Given the description of an element on the screen output the (x, y) to click on. 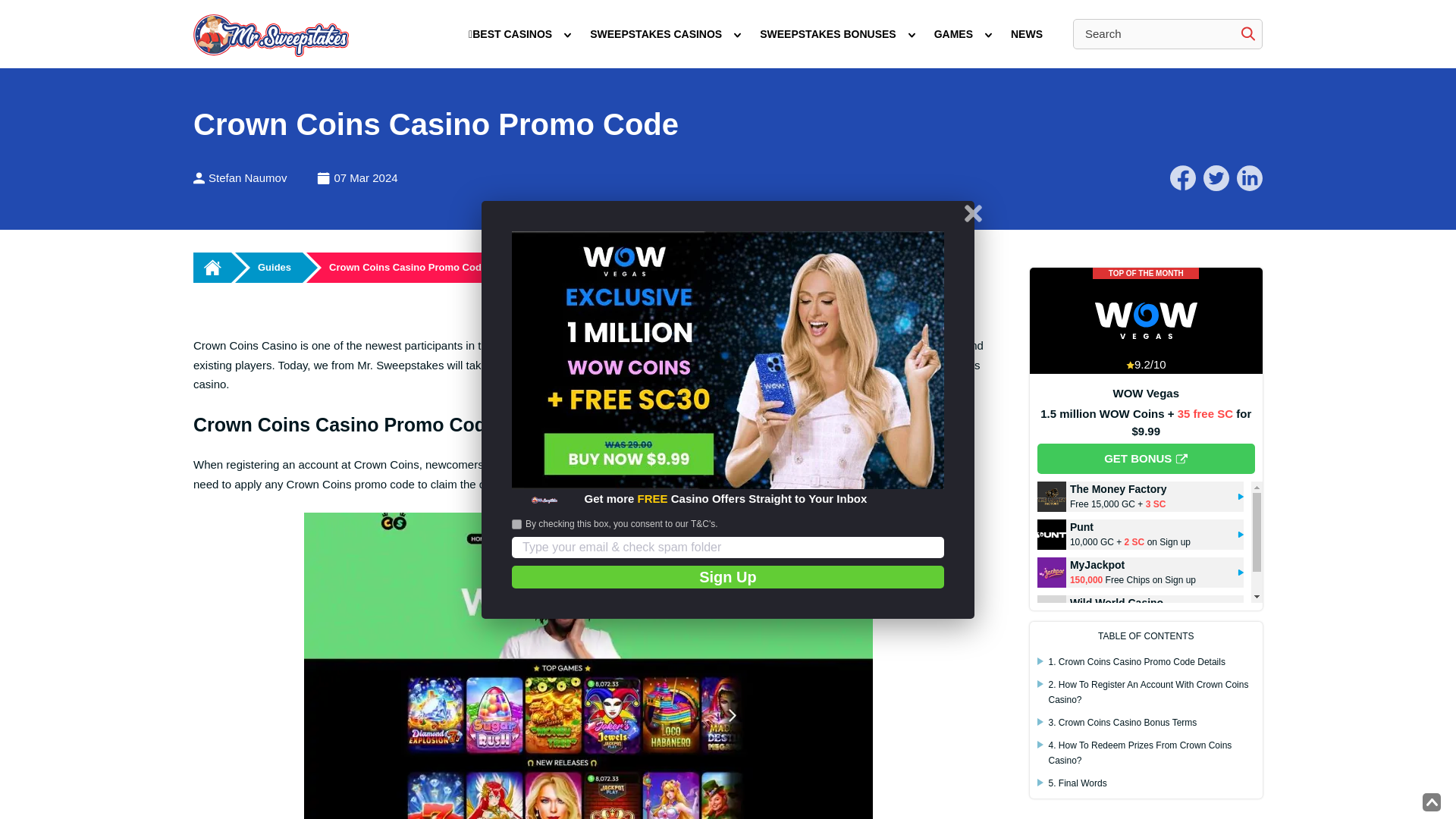
Crown Coins Casino Promo Code (407, 267)
Close (972, 212)
Go to the Guides Category archives. (268, 267)
Go to Mr Sweepstakes. (212, 267)
SWEEPSTAKES CASINOS (655, 33)
Sign Up (727, 576)
